Given the description of an element on the screen output the (x, y) to click on. 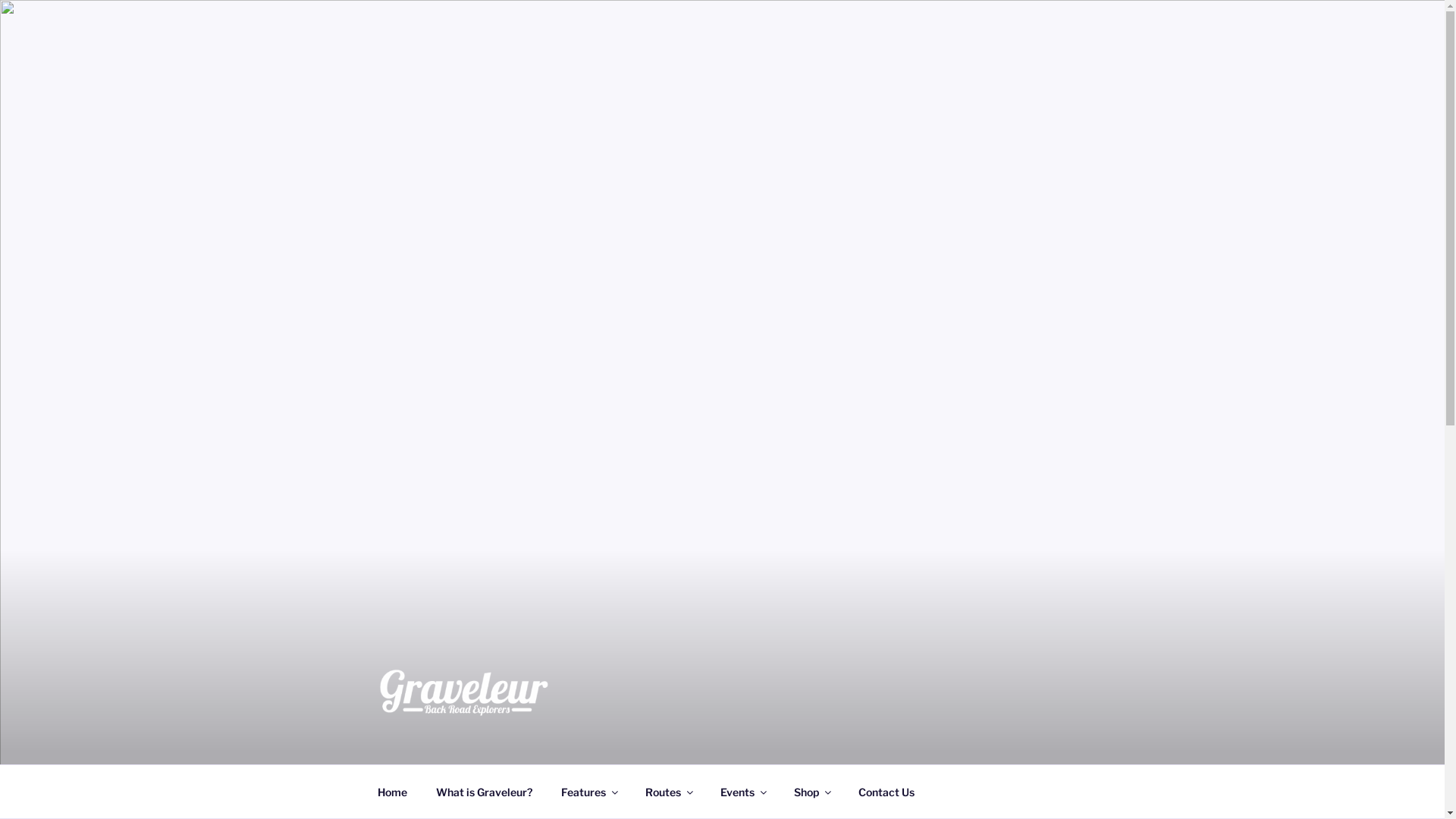
Contact Us Element type: text (885, 791)
Home Element type: text (392, 791)
What is Graveleur? Element type: text (484, 791)
Events Element type: text (742, 791)
GRAVELEUR Element type: text (474, 744)
Shop Element type: text (812, 791)
Routes Element type: text (668, 791)
Features Element type: text (588, 791)
